Given the description of an element on the screen output the (x, y) to click on. 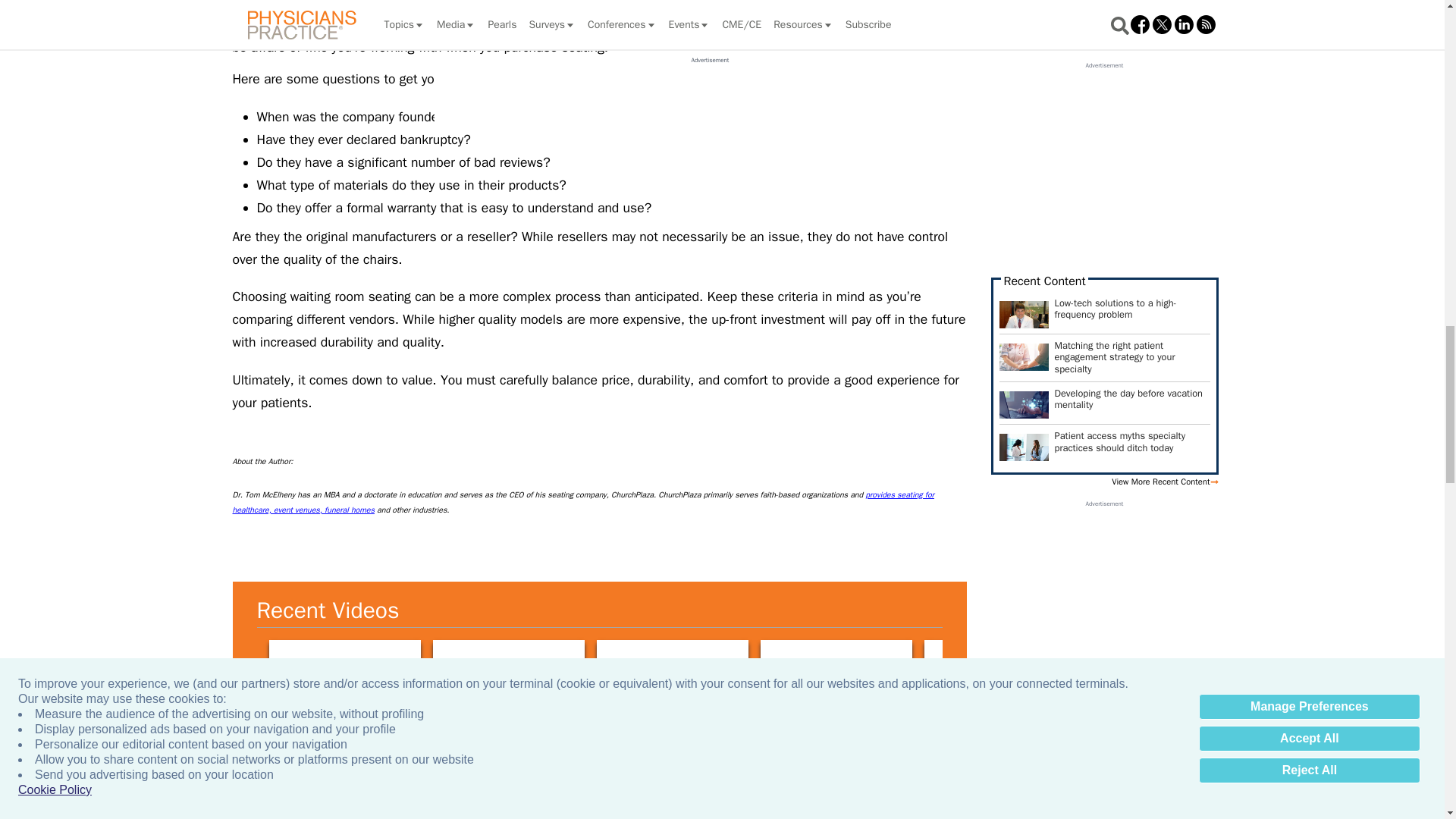
Jeff LeBrun gives expert advice (835, 682)
Erin Jospe, MD gives expert advice (343, 682)
Stephanie Queen gives expert advice (1163, 682)
Erin Jospe, MD, gives expert advice (671, 682)
Rachael Sauceman gives expert advice (999, 682)
Emad Rizk, MD, gives expert advice (1326, 682)
Three experts discuss eating disorders (507, 682)
